Given the description of an element on the screen output the (x, y) to click on. 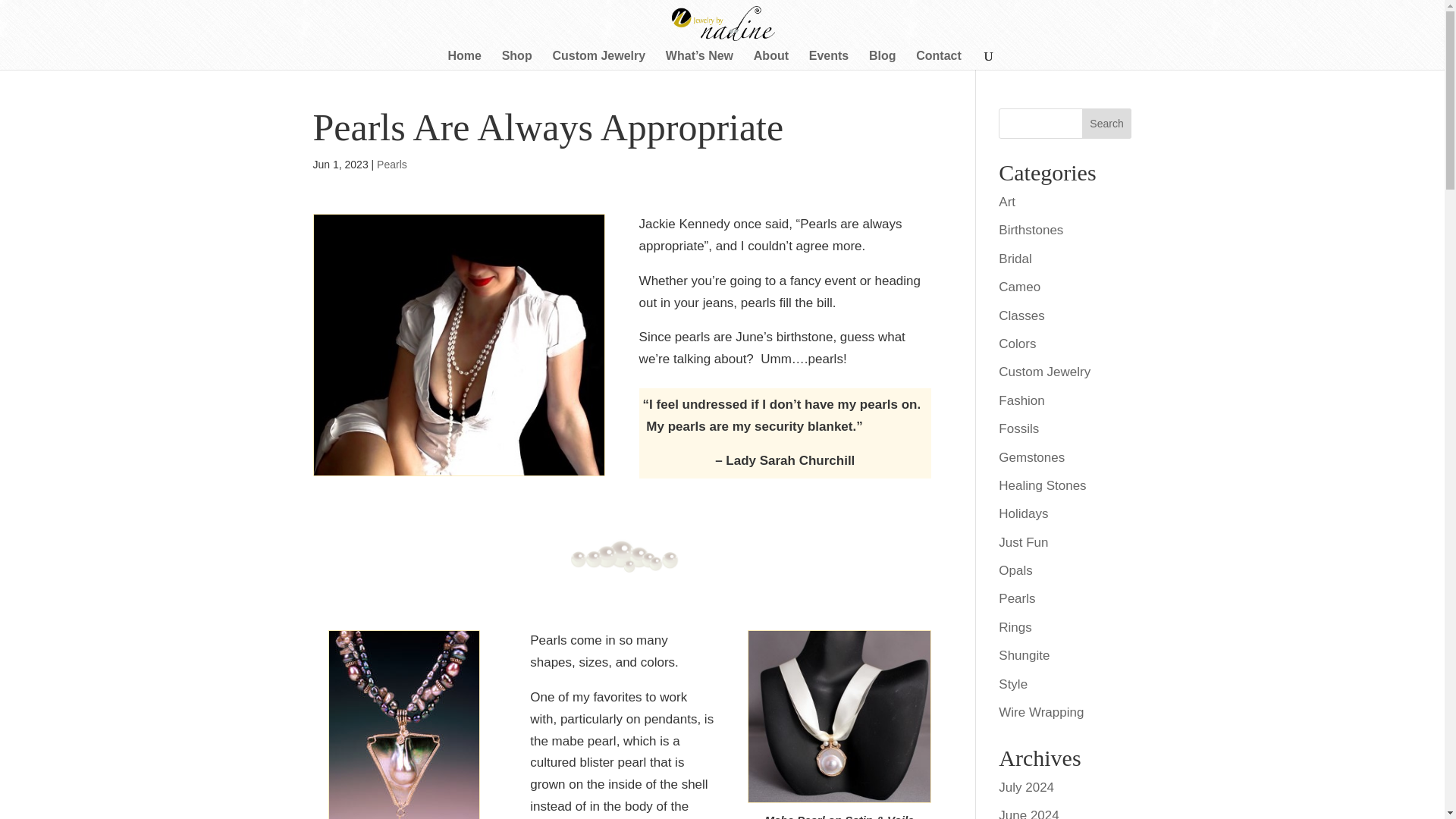
Contact (937, 59)
pearl-divider-done (622, 553)
Gemstones (1031, 457)
About (771, 59)
Shop (517, 59)
Colors (1016, 343)
Just Fun (1023, 542)
Home (463, 59)
Opals (1015, 570)
July 2024 (1026, 787)
Fossils (1018, 428)
Cameo (1019, 287)
Events (828, 59)
mabe-pearl-jewelery-by-nadine (839, 716)
Art (1006, 201)
